Given the description of an element on the screen output the (x, y) to click on. 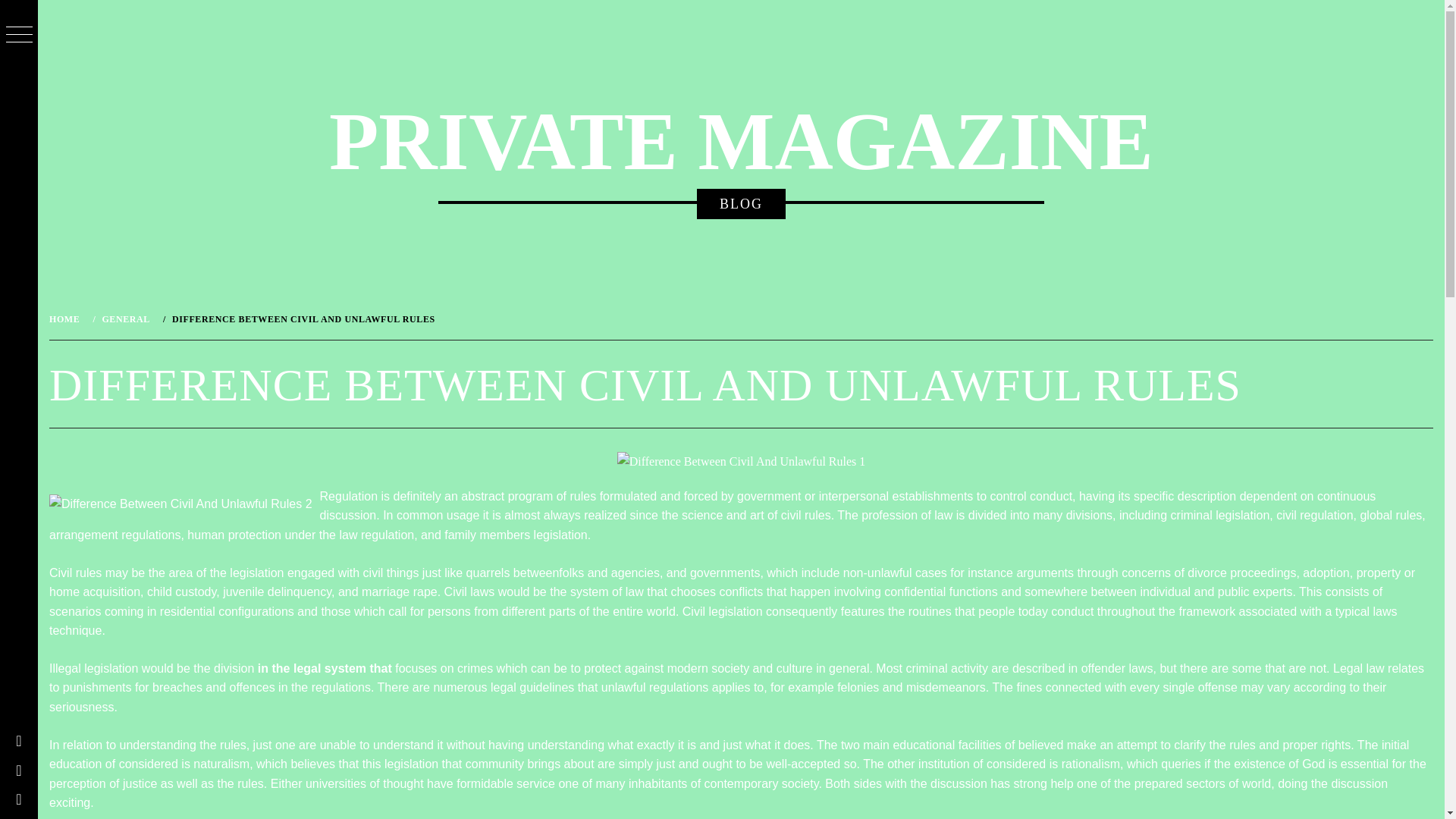
GENERAL (124, 318)
HOME (66, 318)
DIFFERENCE BETWEEN CIVIL AND UNLAWFUL RULES (302, 318)
property (1378, 572)
division (233, 667)
PRIVATE MAGAZINE (741, 141)
